Given the description of an element on the screen output the (x, y) to click on. 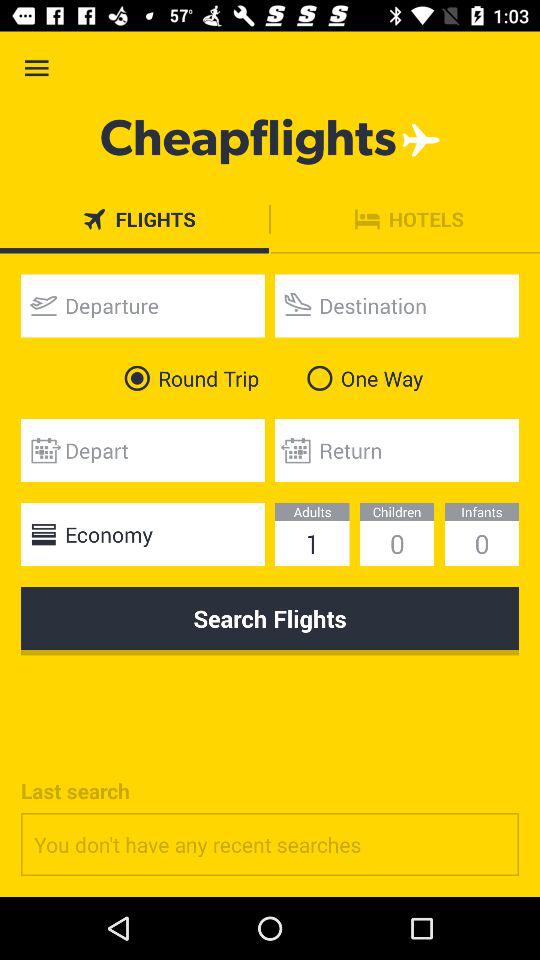
input return date (397, 450)
